Given the description of an element on the screen output the (x, y) to click on. 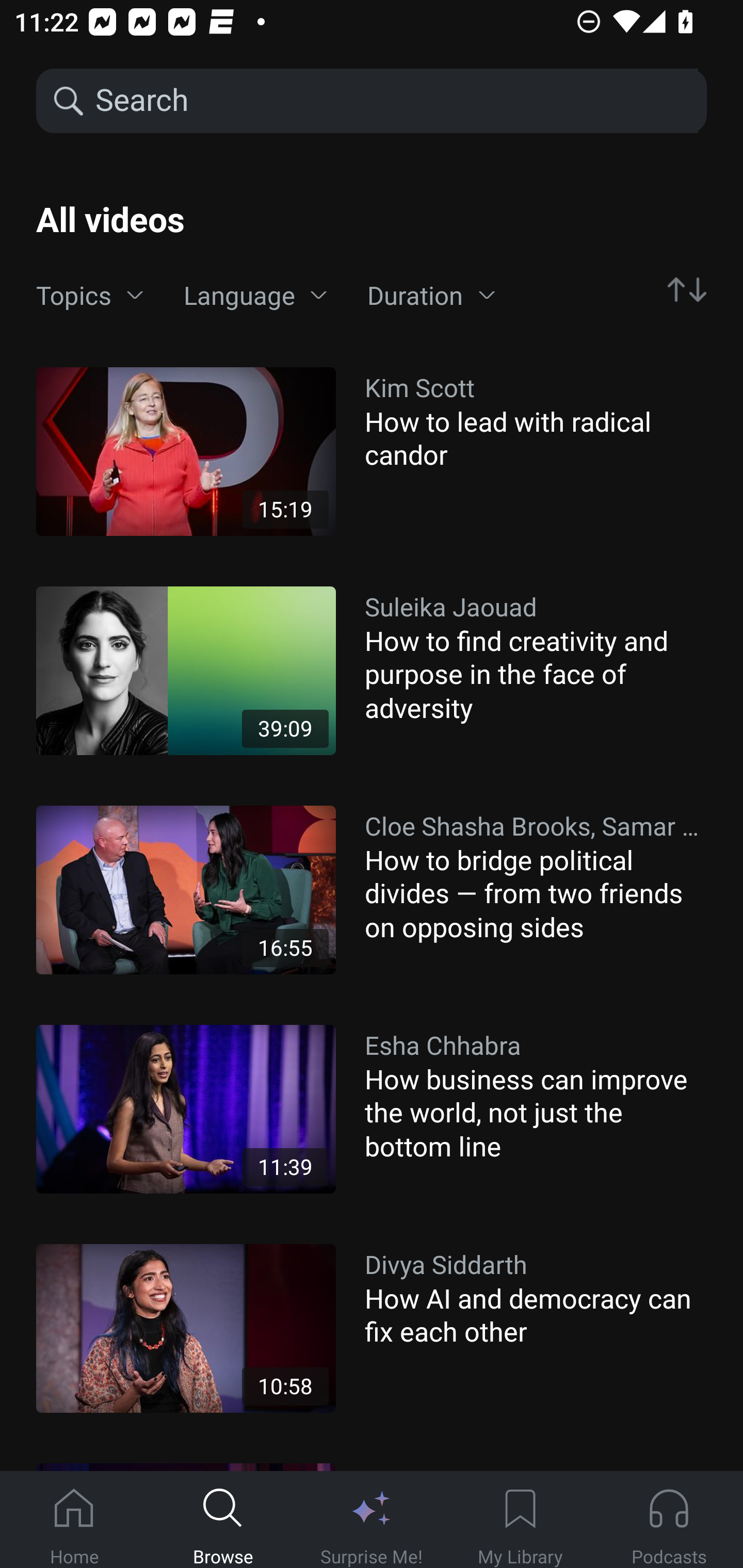
Search (395, 100)
Topics (90, 295)
Language (255, 295)
Duration (431, 295)
15:19 Kim Scott How to lead with radical candor (371, 451)
Home (74, 1520)
Browse (222, 1520)
Surprise Me! (371, 1520)
My Library (519, 1520)
Podcasts (668, 1520)
